Given the description of an element on the screen output the (x, y) to click on. 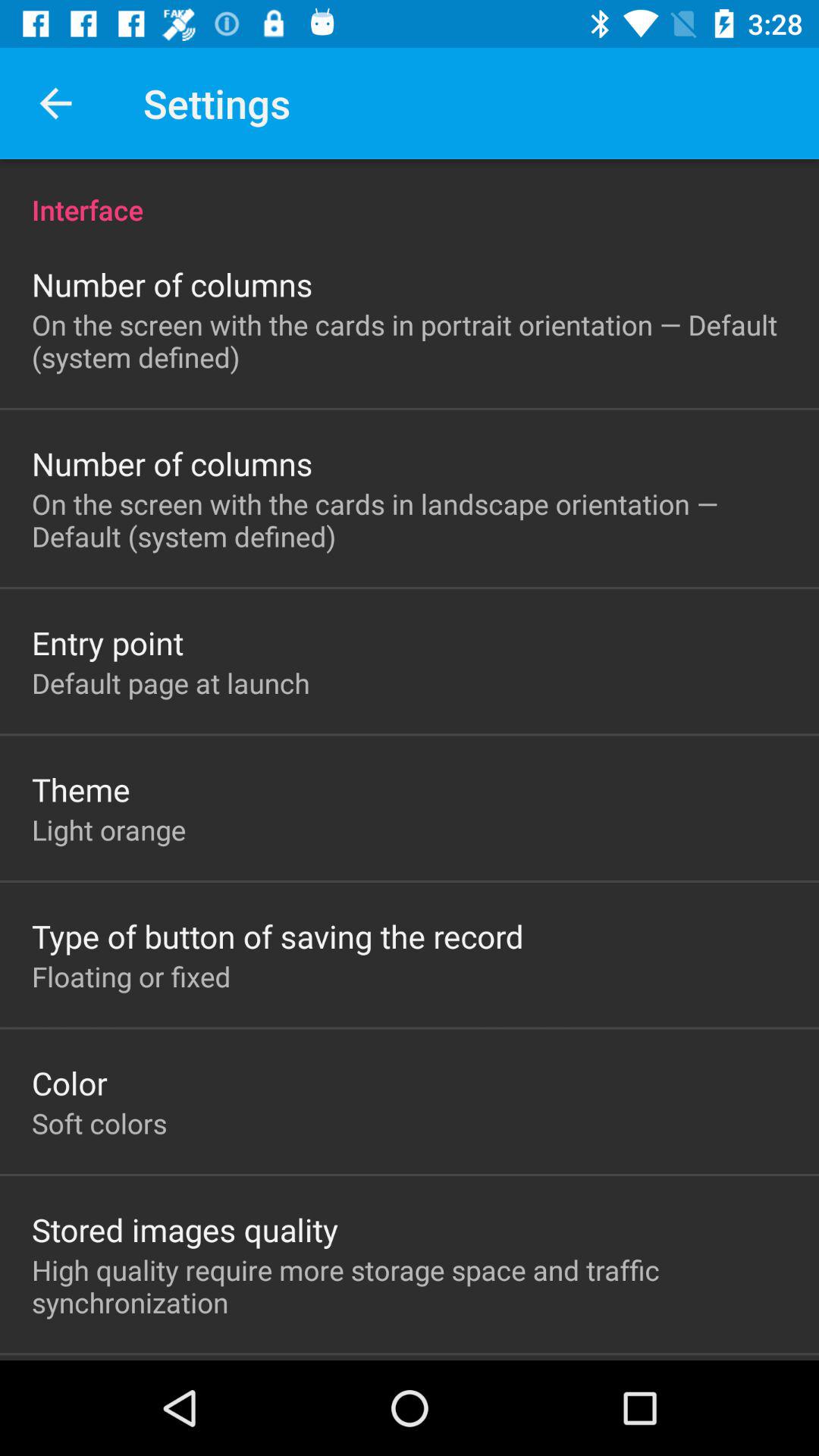
choose item above number of columns item (409, 193)
